Given the description of an element on the screen output the (x, y) to click on. 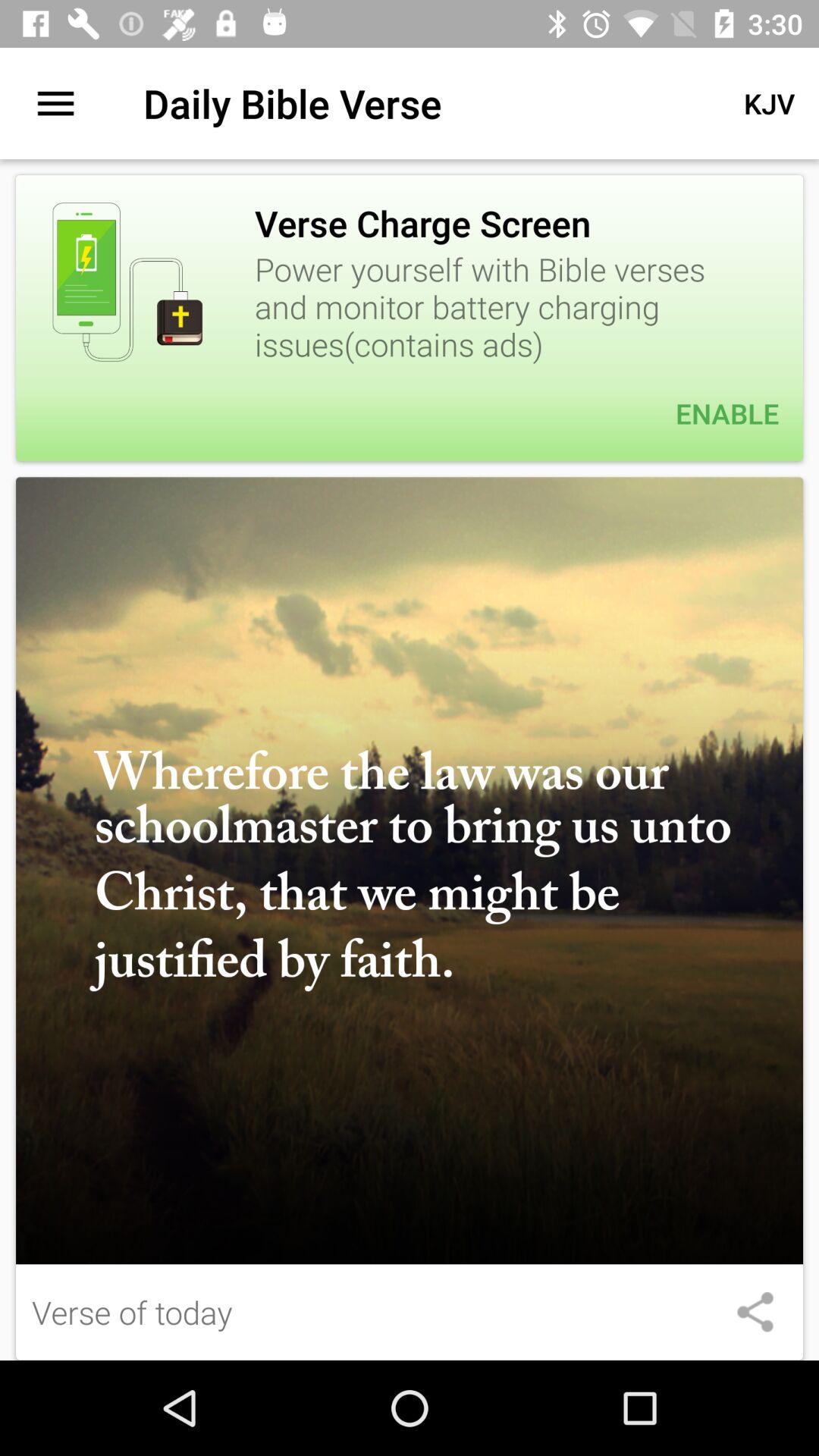
select the kjv at the top right corner (769, 103)
